Given the description of an element on the screen output the (x, y) to click on. 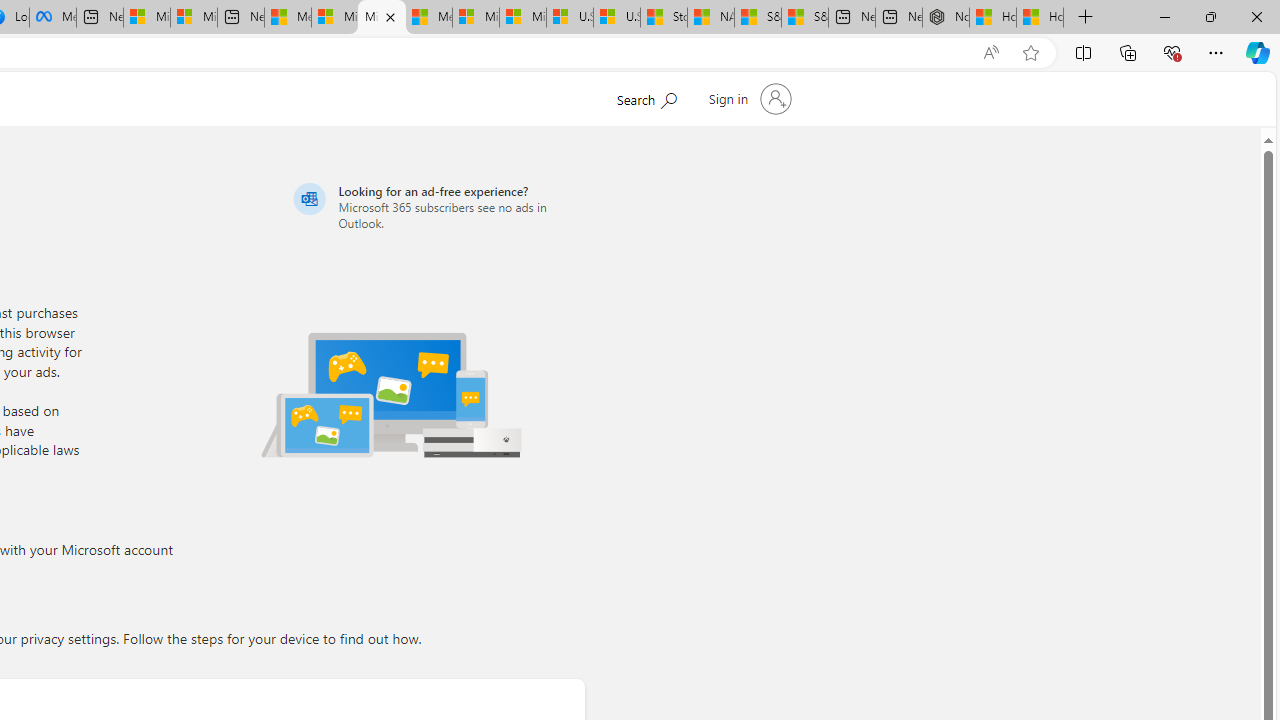
Search Microsoft.com (646, 97)
